Given the description of an element on the screen output the (x, y) to click on. 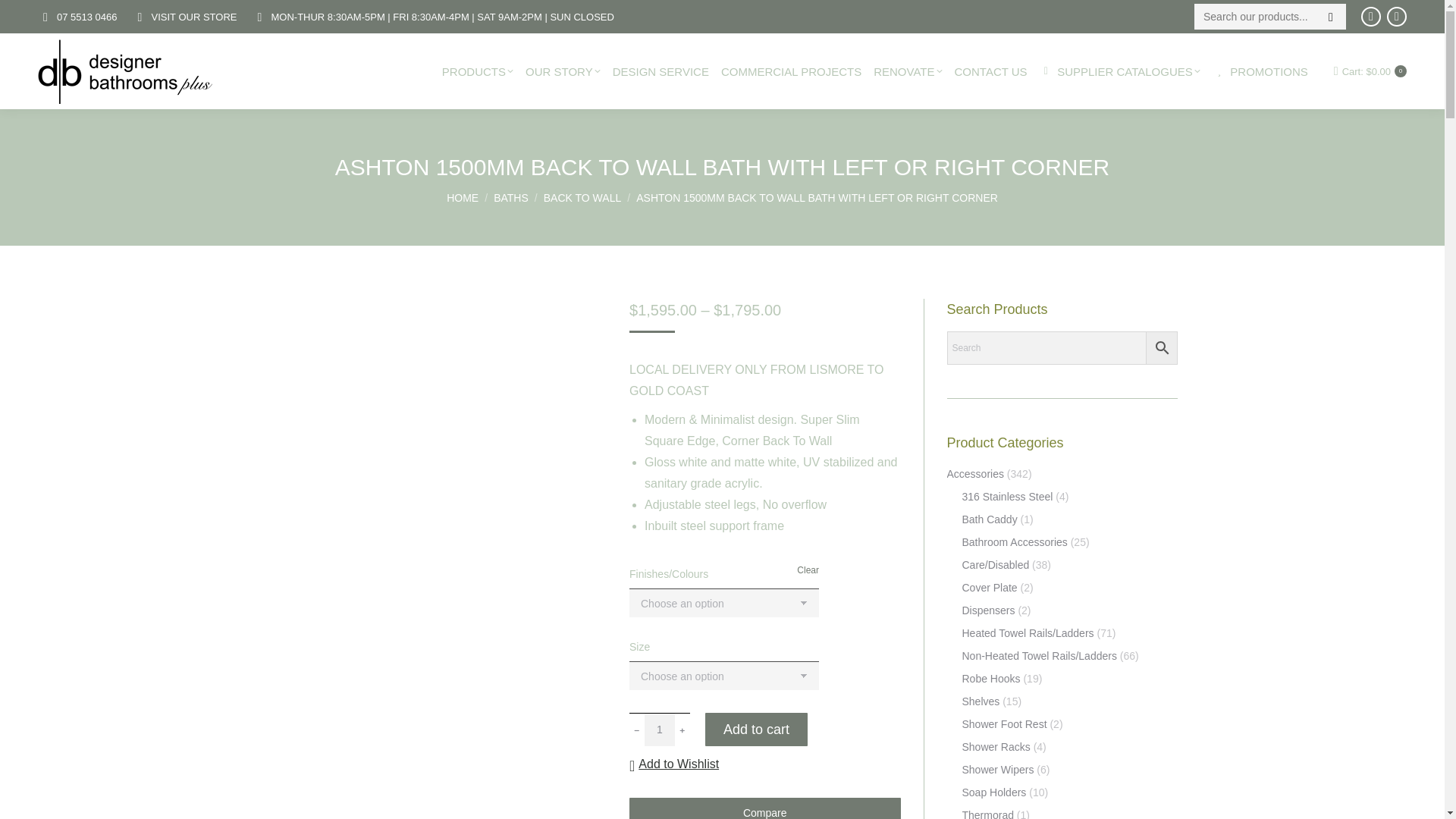
Search form (1269, 16)
1 (660, 729)
Back to Wall (582, 196)
PRODUCTS (477, 70)
Facebook page opens in new window (1370, 16)
07 5513 0466 (86, 16)
Go! (24, 16)
VISIT OUR STORE (194, 16)
Baths (510, 196)
Home (462, 196)
